Given the description of an element on the screen output the (x, y) to click on. 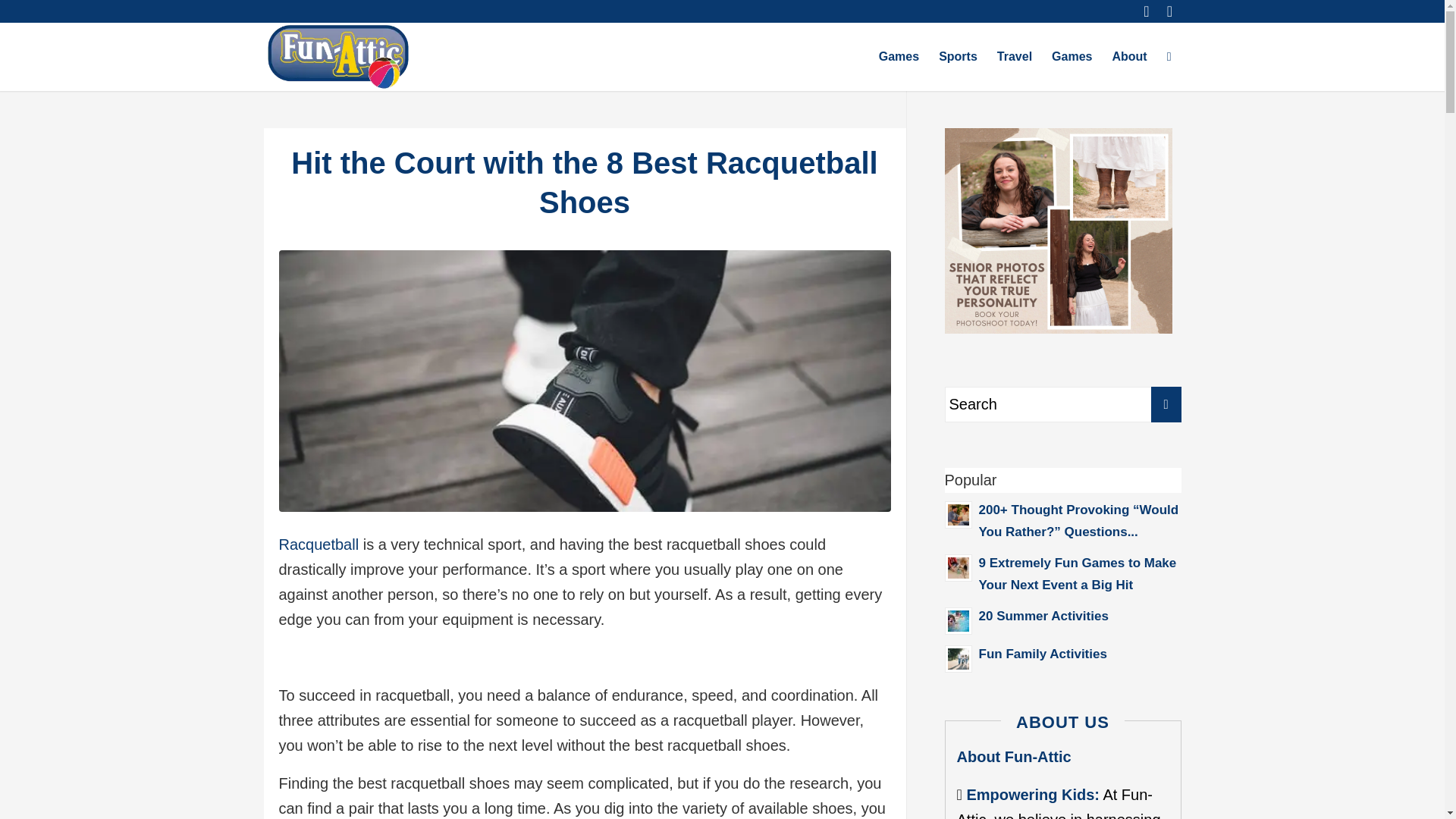
Sports (957, 56)
Facebook (1169, 11)
About (1129, 56)
Pinterest (1146, 11)
Racquetball (319, 544)
Travel (1014, 56)
Games (898, 56)
Games (1072, 56)
